Given the description of an element on the screen output the (x, y) to click on. 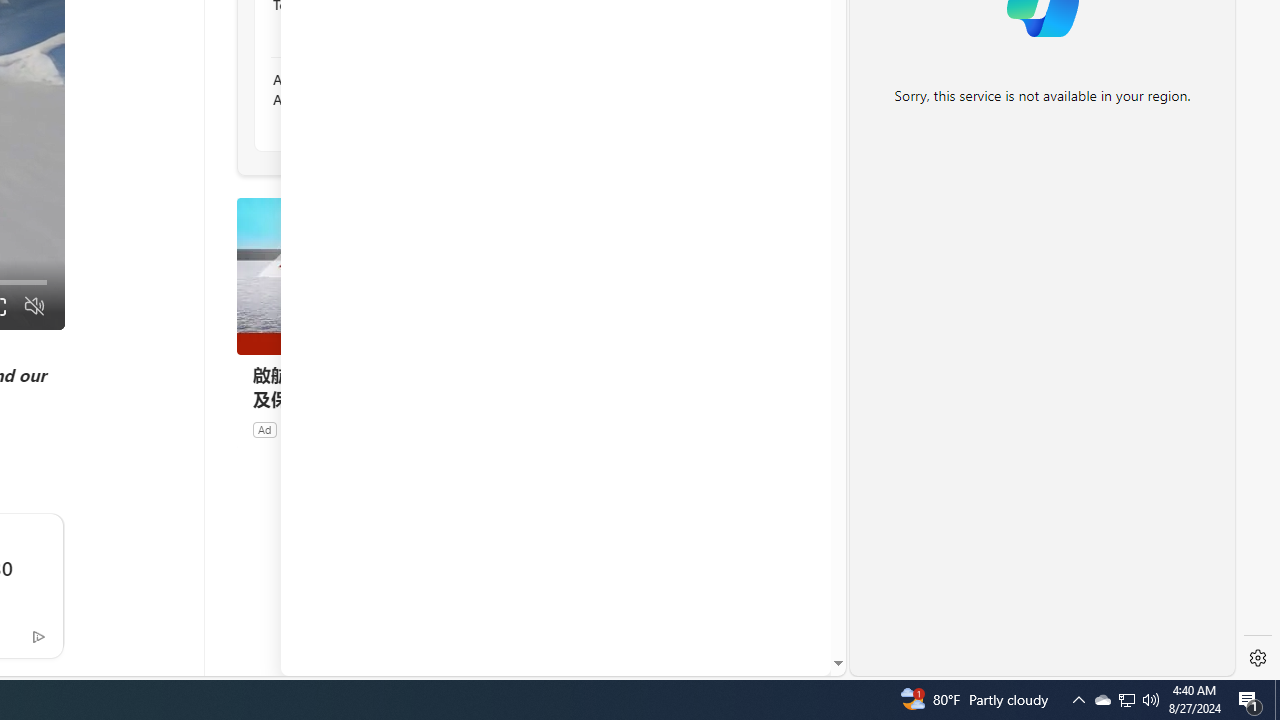
Alaska Landslide Kills 1 Person And Injures 3 in Ketchikan (381, 89)
Unmute (34, 306)
